Given the description of an element on the screen output the (x, y) to click on. 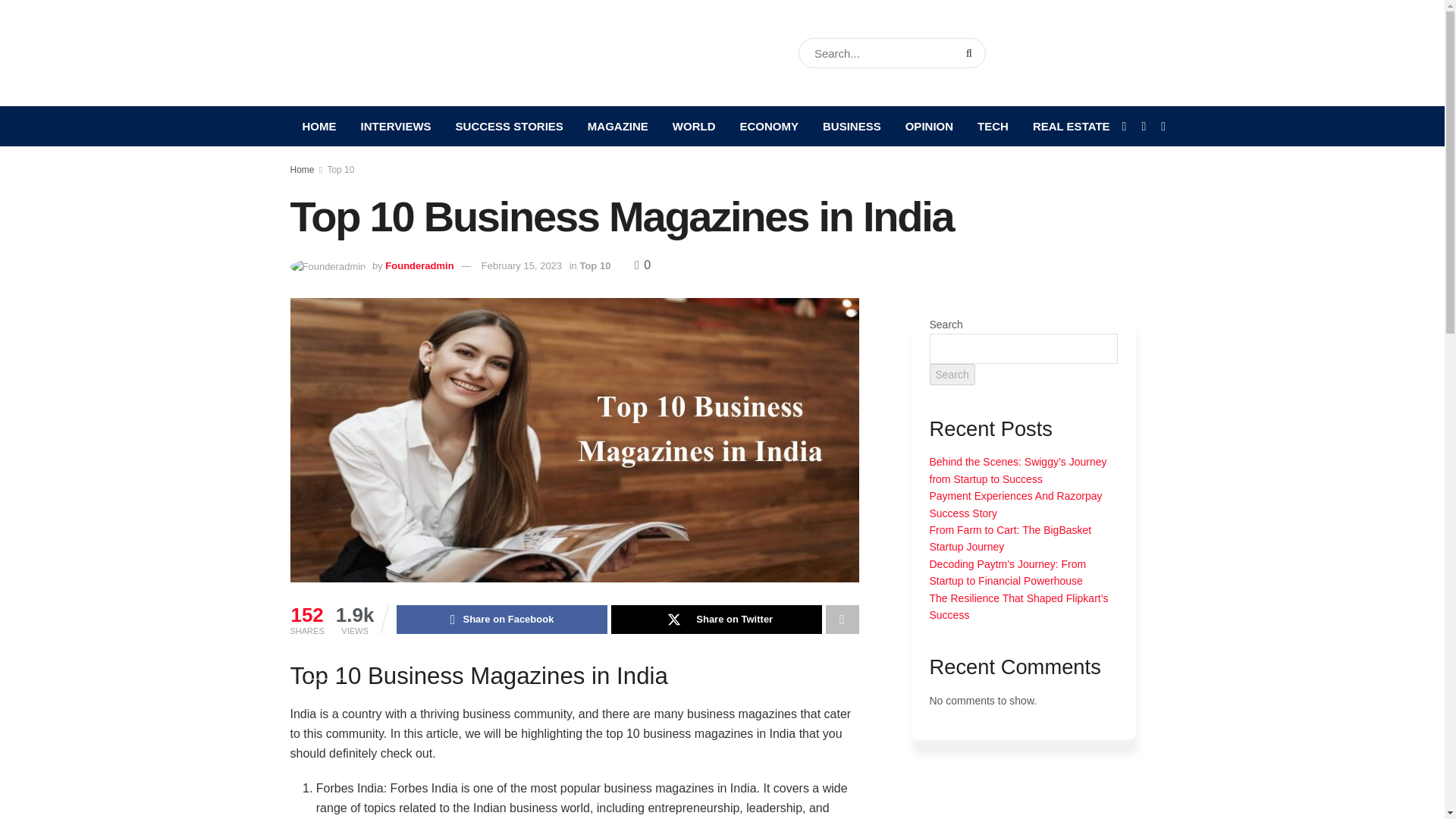
INTERVIEWS (396, 126)
ECONOMY (769, 126)
MAGAZINE (618, 126)
0 (642, 264)
WORLD (694, 126)
Founderadmin (418, 265)
REAL ESTATE (1071, 126)
SUCCESS STORIES (509, 126)
Home (301, 169)
TECH (992, 126)
